Given the description of an element on the screen output the (x, y) to click on. 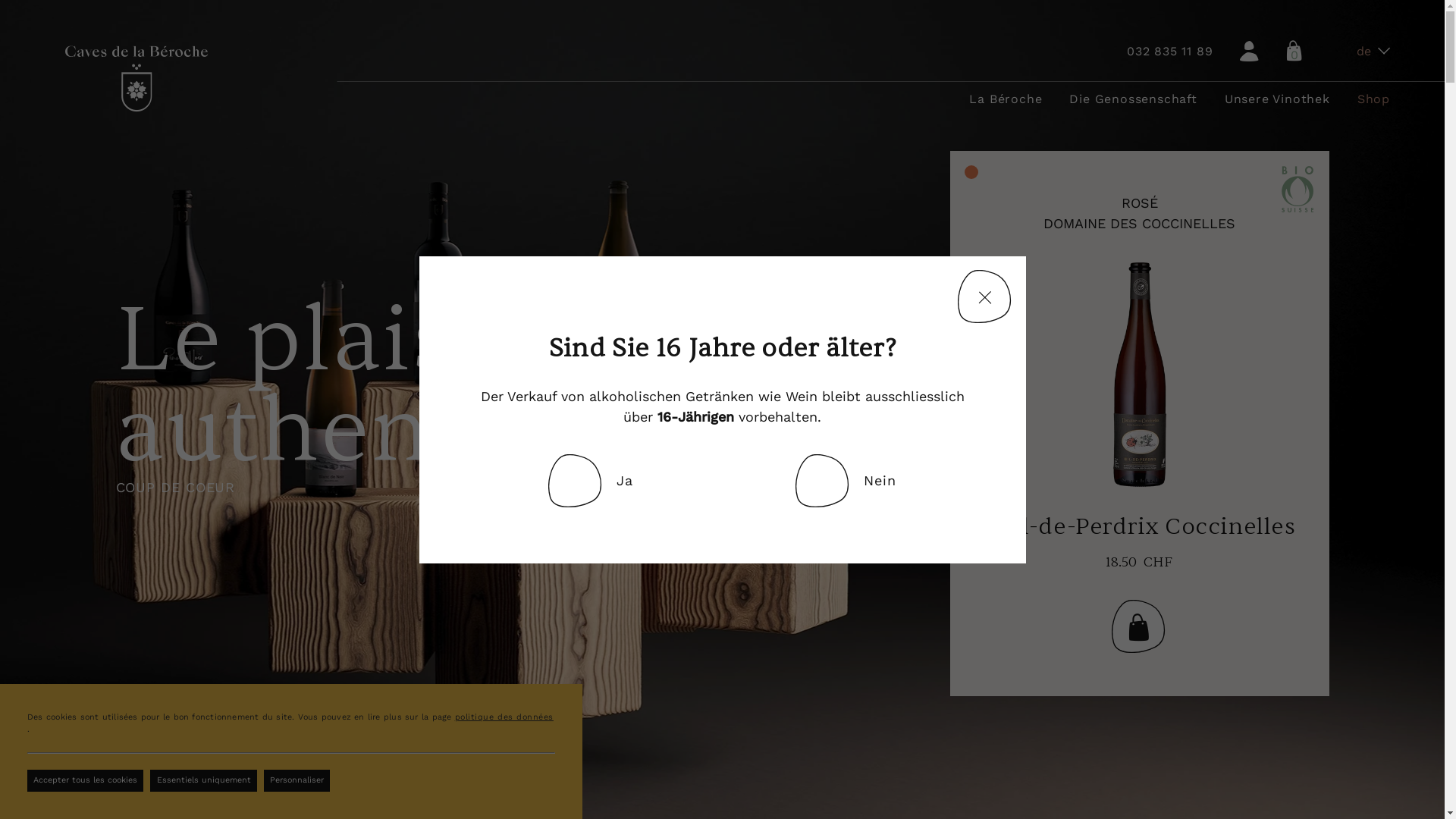
Accepter tous les cookies Element type: text (85, 780)
Unsere Vinothek Element type: text (1277, 98)
032 835 11 89 Element type: text (1169, 50)
fr Element type: text (1372, 78)
Die Genossenschaft Element type: text (1132, 98)
In den Warenkorb  Element type: hover (1138, 626)
Ja Element type: text (590, 480)
Personnaliser Element type: text (296, 780)
Nein Element type: text (845, 480)
Essentiels uniquement Element type: text (203, 780)
0 Element type: text (1294, 50)
Mon profil Element type: hover (1249, 50)
Shop Element type: text (1373, 98)
